Given the description of an element on the screen output the (x, y) to click on. 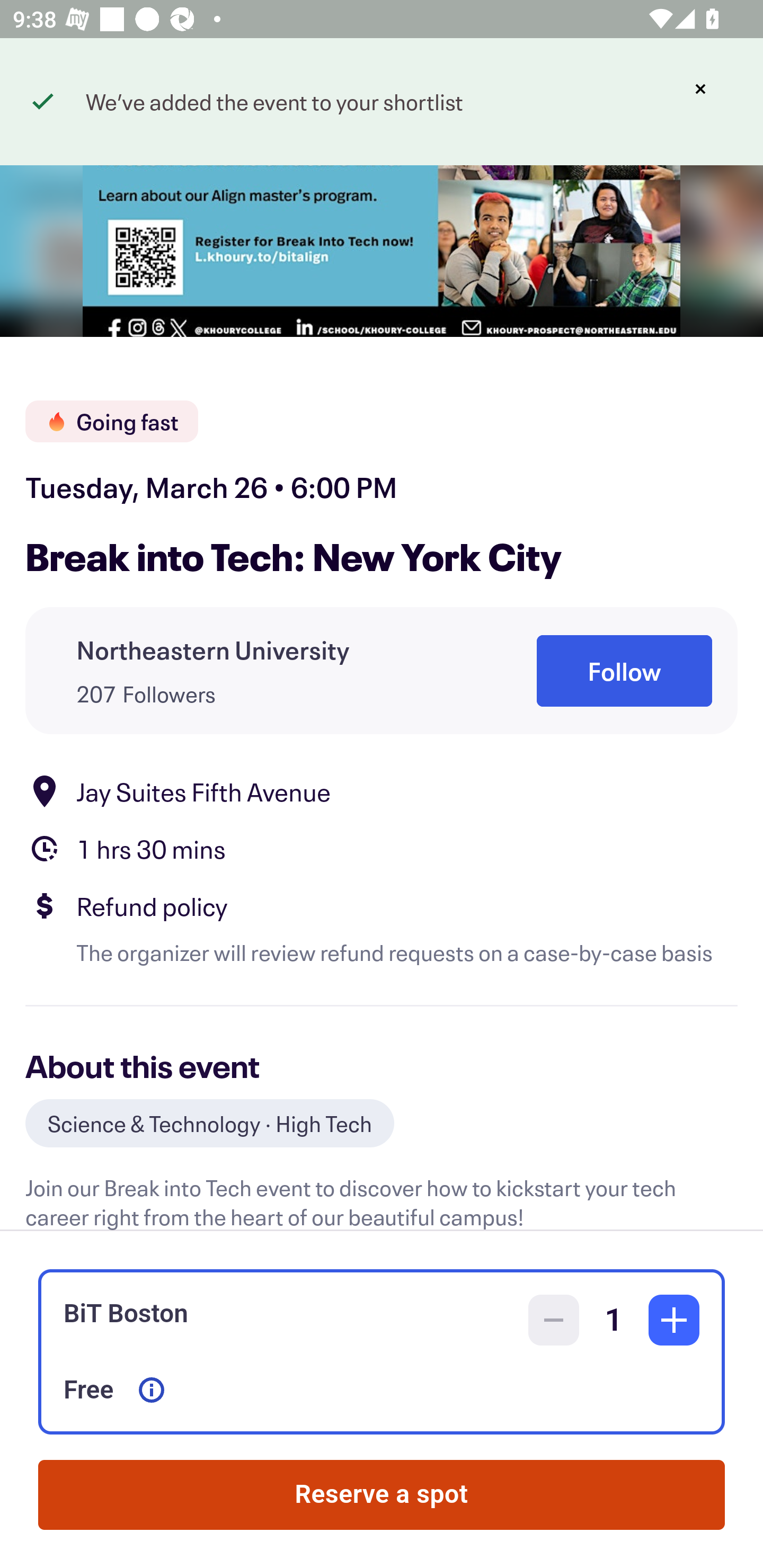
Back (57, 94)
Share (705, 94)
Northeastern University (212, 649)
Follow (623, 670)
Location Jay Suites Fifth Avenue (381, 790)
Decrease (553, 1320)
Increase (673, 1320)
Show more information (151, 1389)
Reserve a spot (381, 1494)
